Given the description of an element on the screen output the (x, y) to click on. 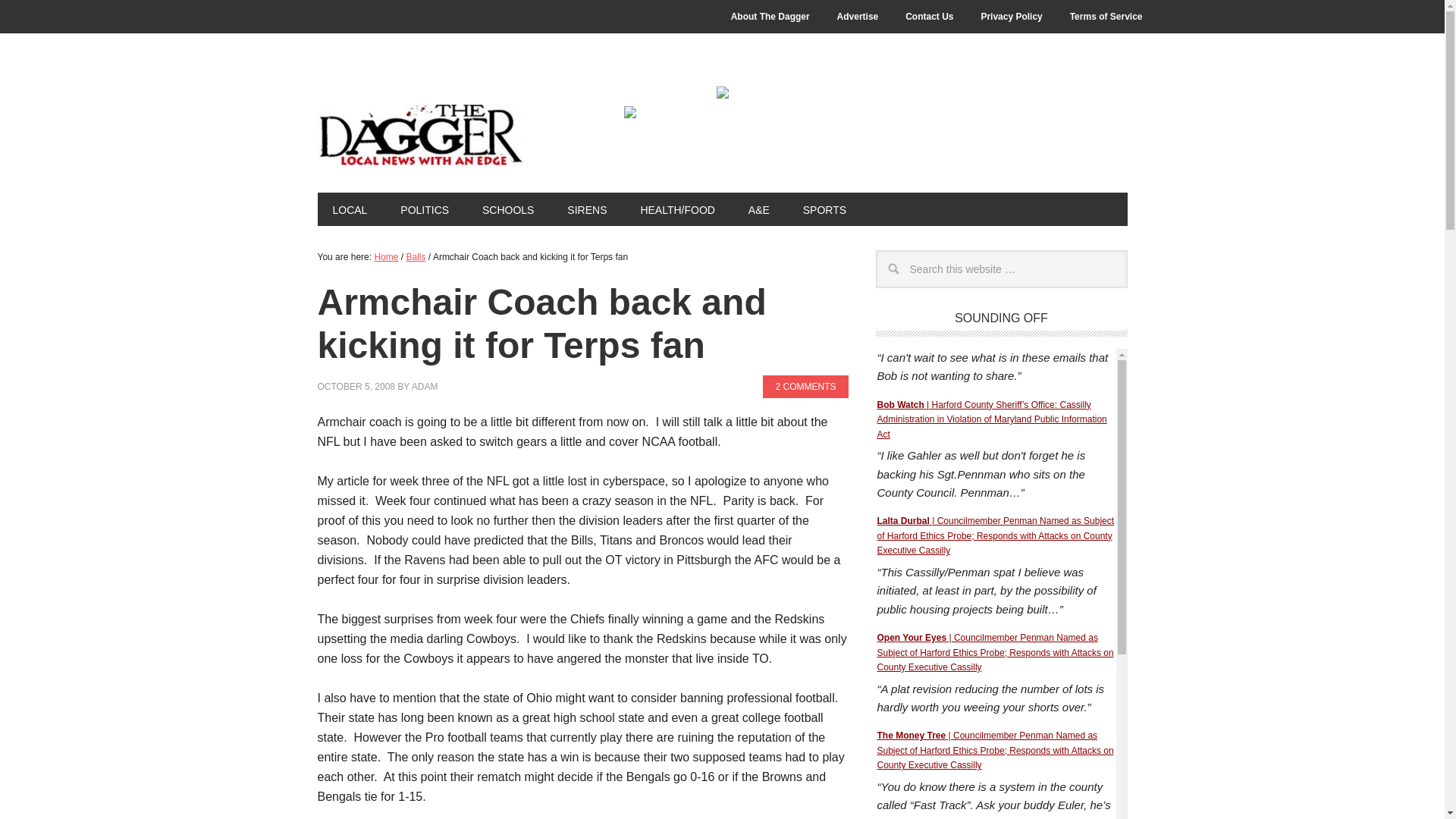
LOCAL (349, 209)
2 COMMENTS (804, 386)
Home (385, 256)
Terms of Service (1106, 16)
Local (349, 209)
Privacy Policy (1011, 16)
ADAM (425, 386)
Contact Us (929, 16)
SPORTS (824, 209)
Politics (424, 209)
About The Dagger (770, 16)
Sports (824, 209)
SCHOOLS (507, 209)
